Given the description of an element on the screen output the (x, y) to click on. 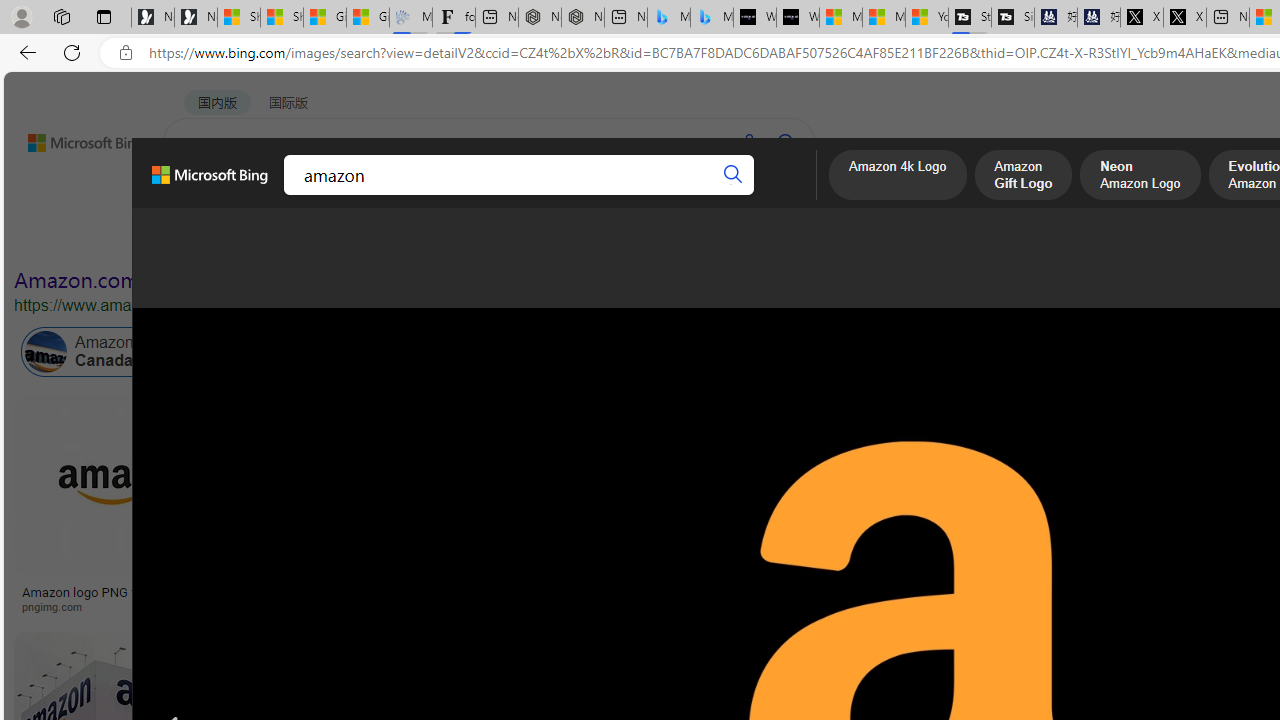
Amazon India (850, 351)
Amazon Kids (422, 351)
License (665, 237)
mytotalretail.com (298, 605)
Echo Dot 4th Gen (1087, 465)
Amazon Prime Online (303, 351)
Back to Bing search (73, 138)
License (664, 237)
IMAGES (274, 196)
WEB (201, 195)
Neon Amazon Logo (1139, 177)
Streaming Coverage | T3 (969, 17)
MAPS (698, 195)
